Given the description of an element on the screen output the (x, y) to click on. 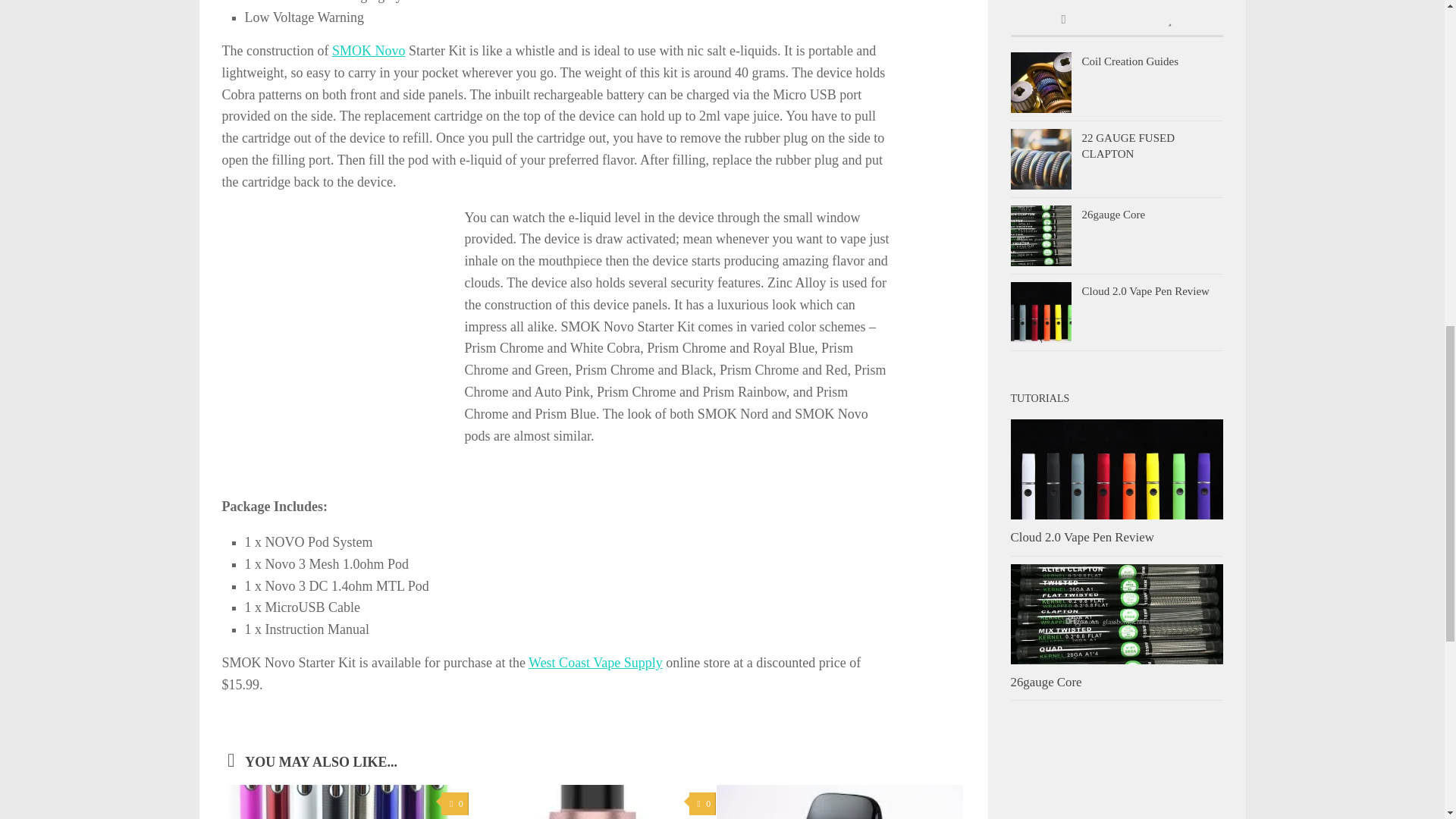
0 (702, 803)
Popular Posts (1169, 20)
0 (454, 803)
Recent Posts (1063, 20)
SMOK Novo (368, 50)
West Coast Vape Supply (595, 662)
